Given the description of an element on the screen output the (x, y) to click on. 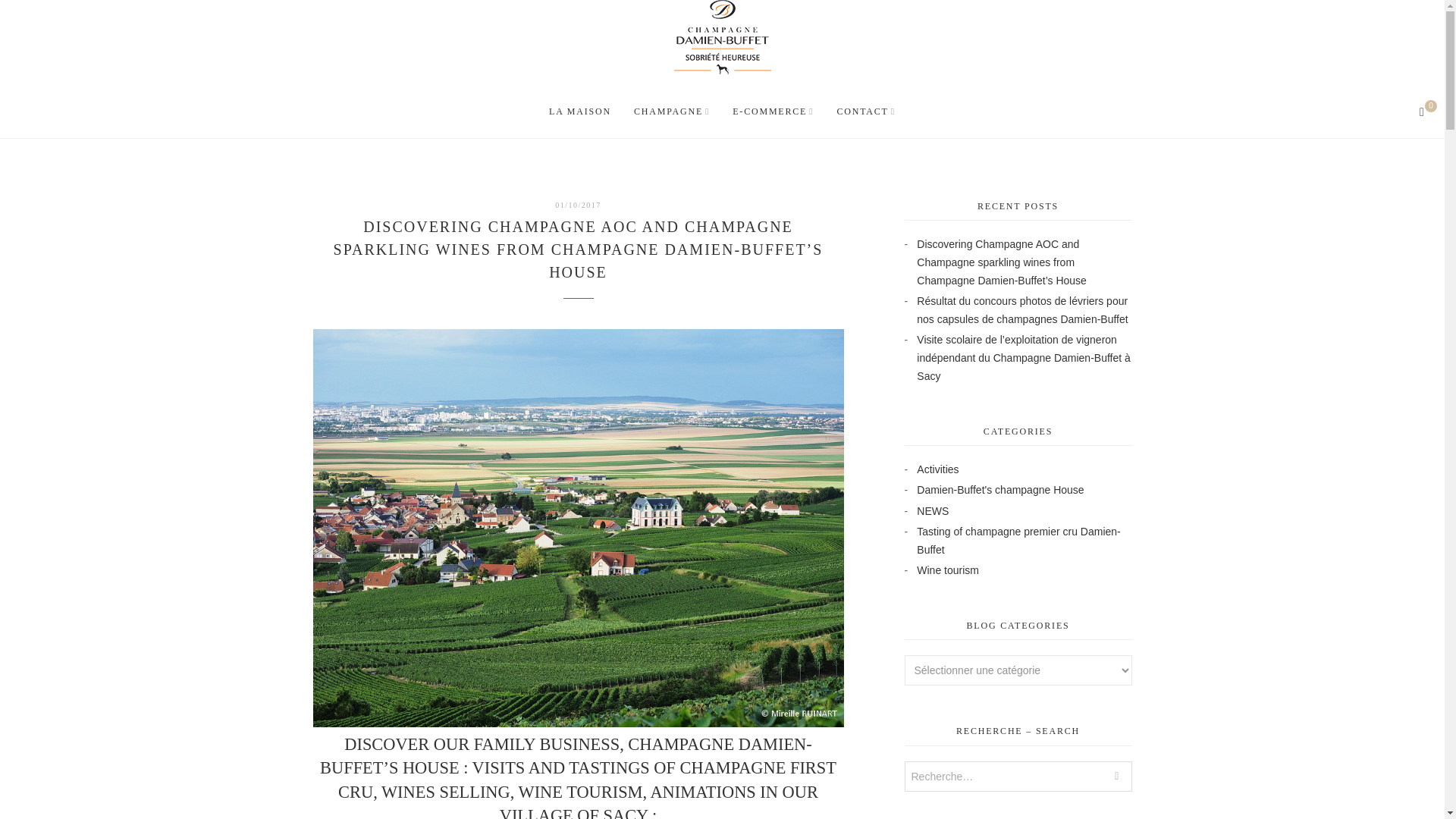
CONTACT (865, 111)
LA MAISON (579, 111)
CHAMPAGNE (671, 111)
E-COMMERCE (1425, 111)
